Given the description of an element on the screen output the (x, y) to click on. 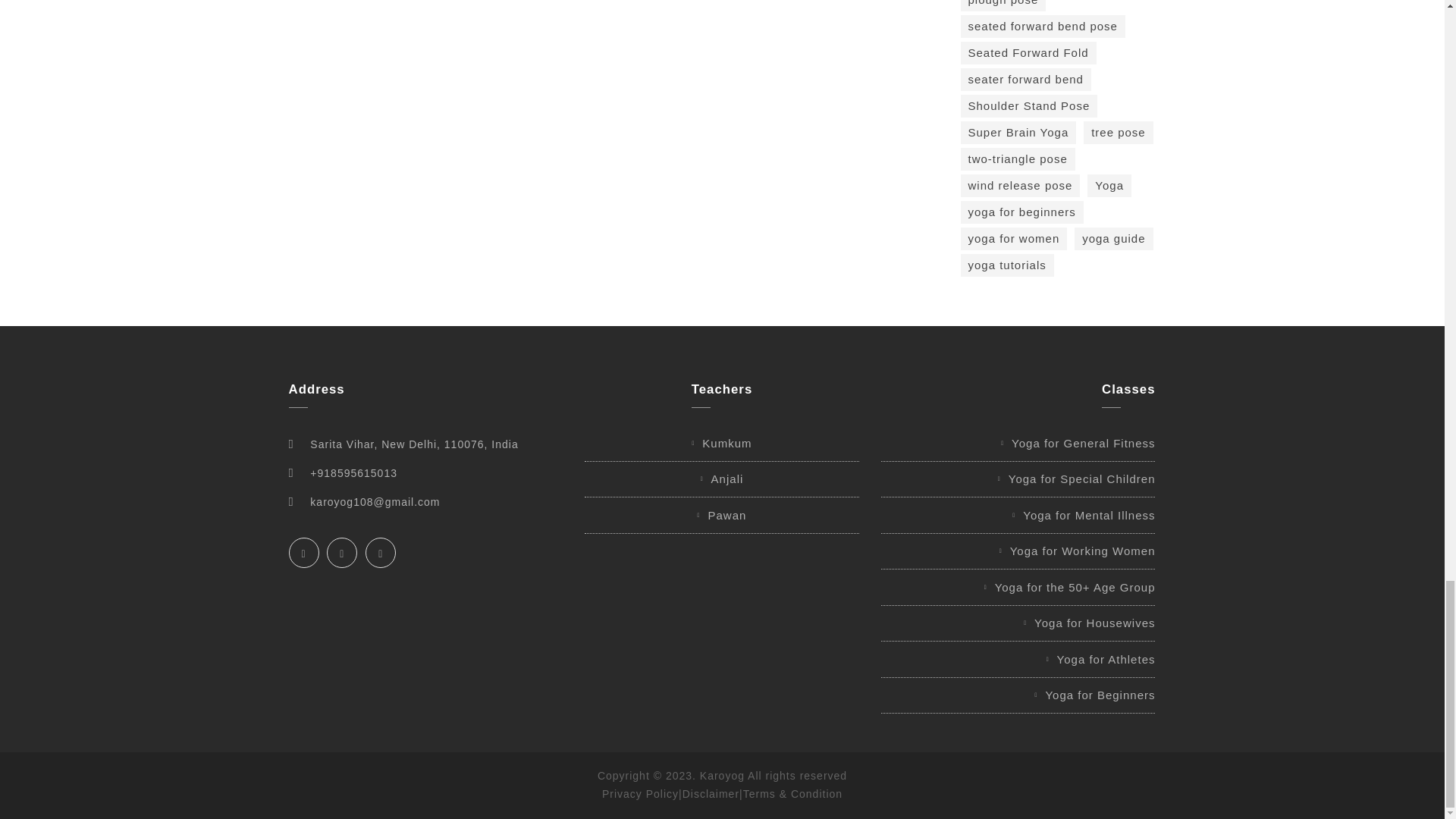
Linkedin (341, 552)
Instagram (380, 552)
Facebook (303, 552)
